Given the description of an element on the screen output the (x, y) to click on. 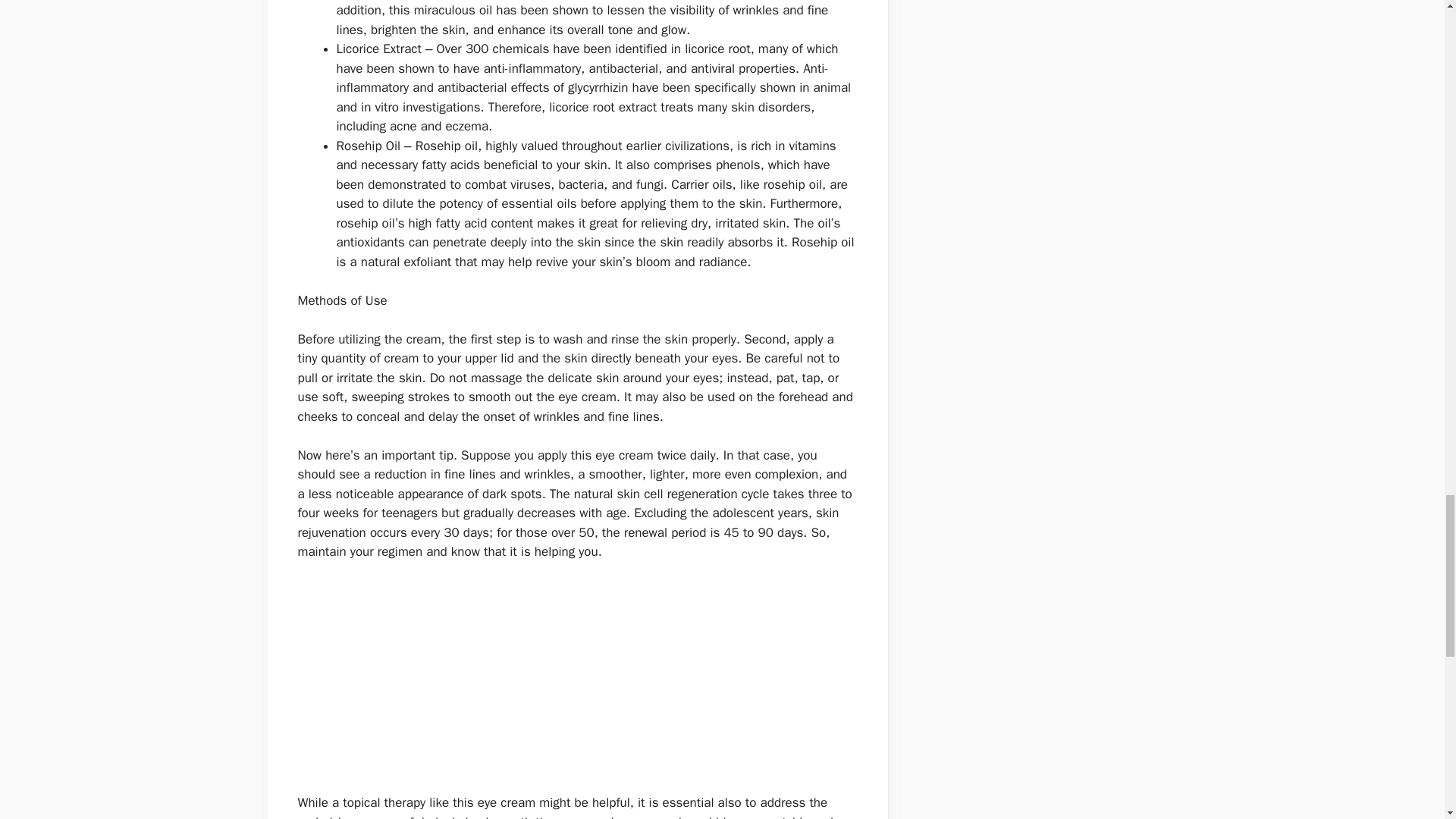
Advertisement (576, 686)
